Given the description of an element on the screen output the (x, y) to click on. 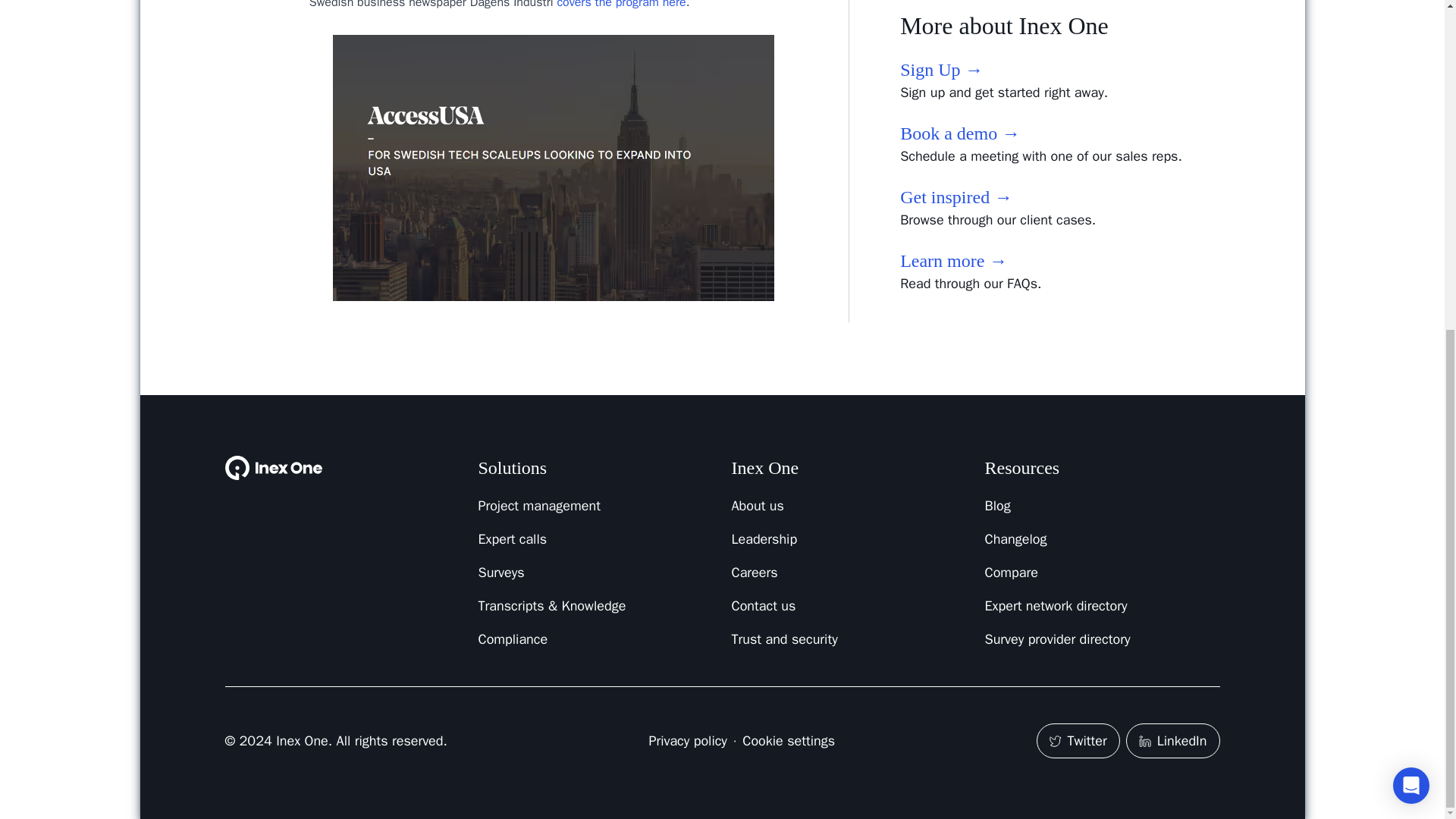
Leadership (848, 538)
LinkedIn (1172, 740)
Contact us (848, 605)
Trust and security (848, 639)
Compare (1102, 572)
Expert calls (595, 538)
covers the program here (620, 4)
Blog (1102, 505)
Survey provider directory (1102, 639)
Project management (595, 505)
